Given the description of an element on the screen output the (x, y) to click on. 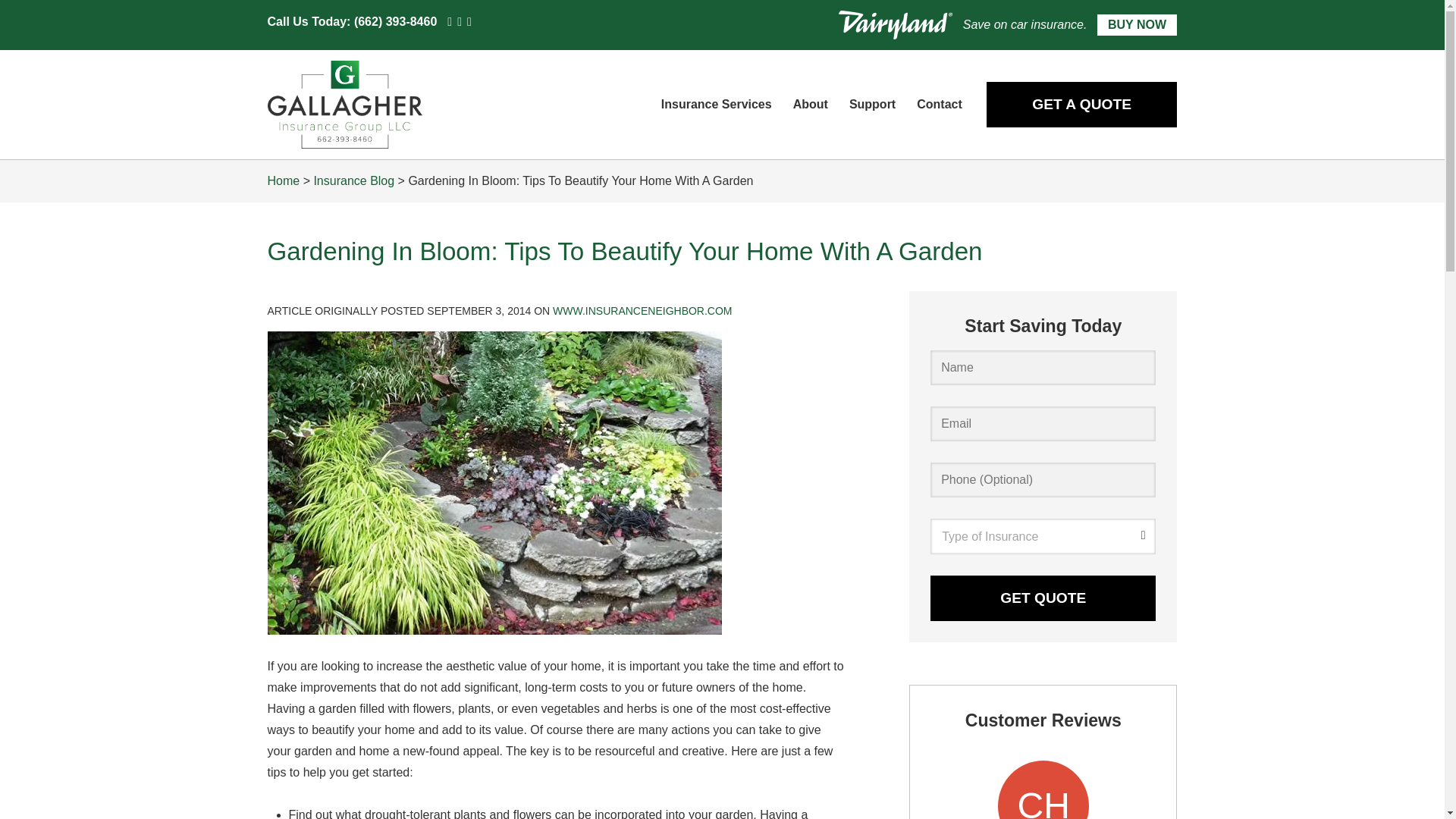
Insurance Services (716, 104)
Google Maps (448, 21)
About (810, 104)
Get Quote (1043, 597)
Home Page (411, 104)
Dairyland Logo (895, 24)
Yelp (459, 21)
Support (871, 104)
Facebook (469, 21)
